Given the description of an element on the screen output the (x, y) to click on. 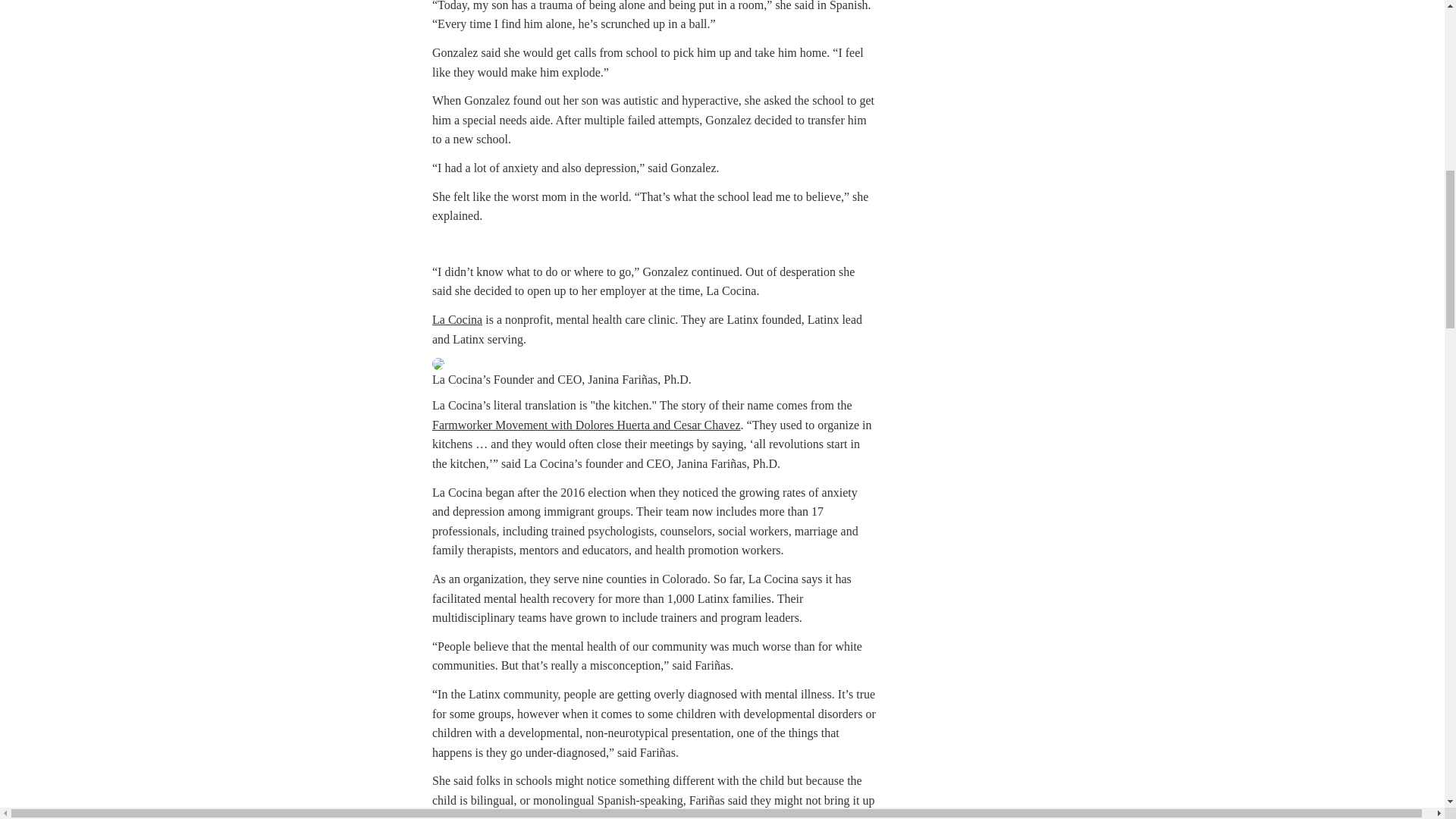
Farmworker Movement with Dolores Huerta and Cesar Chavez (586, 424)
La Cocina (456, 318)
